Given the description of an element on the screen output the (x, y) to click on. 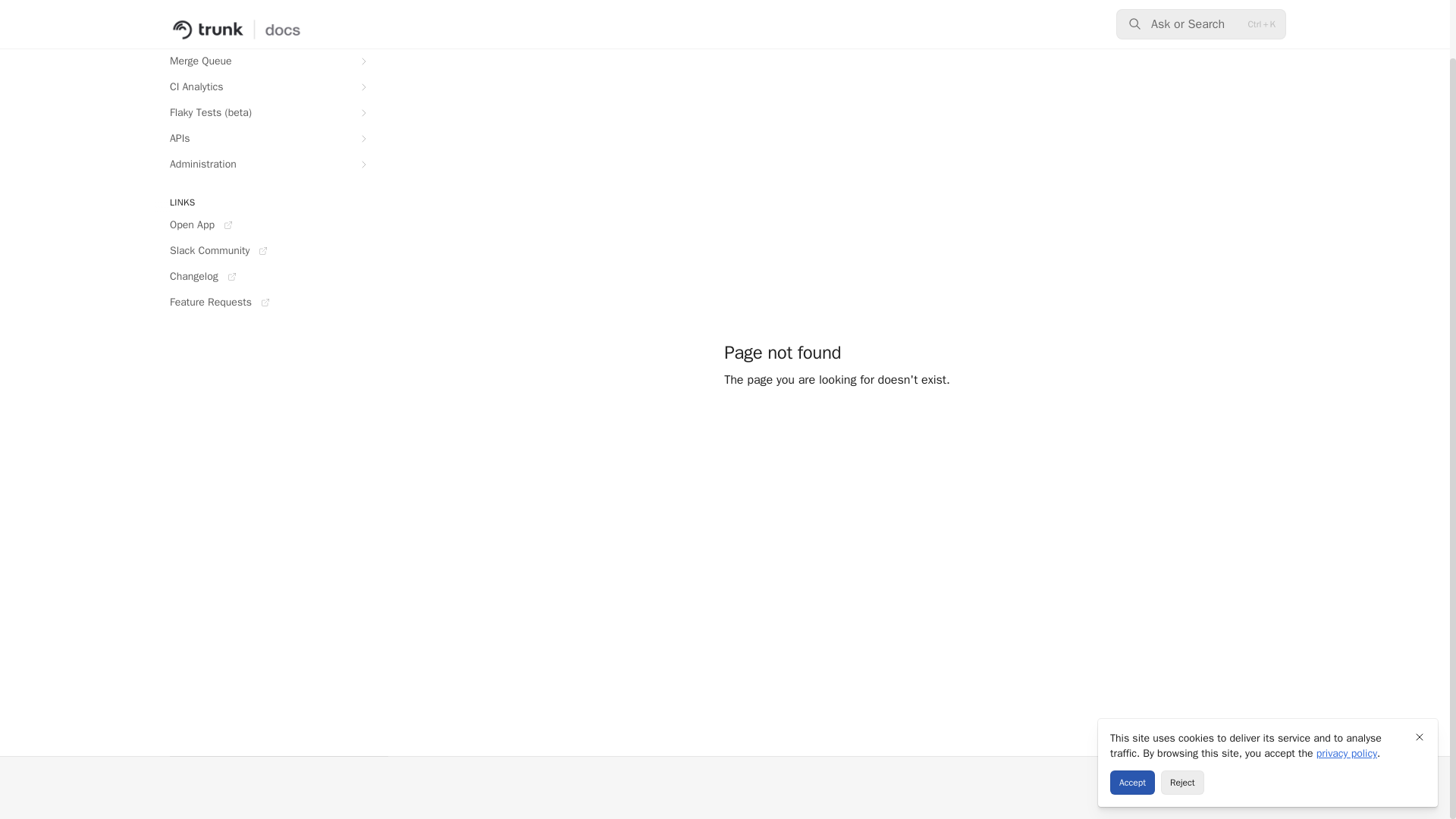
Code Quality (264, 35)
Welcome (264, 11)
Close (1419, 674)
